Given the description of an element on the screen output the (x, y) to click on. 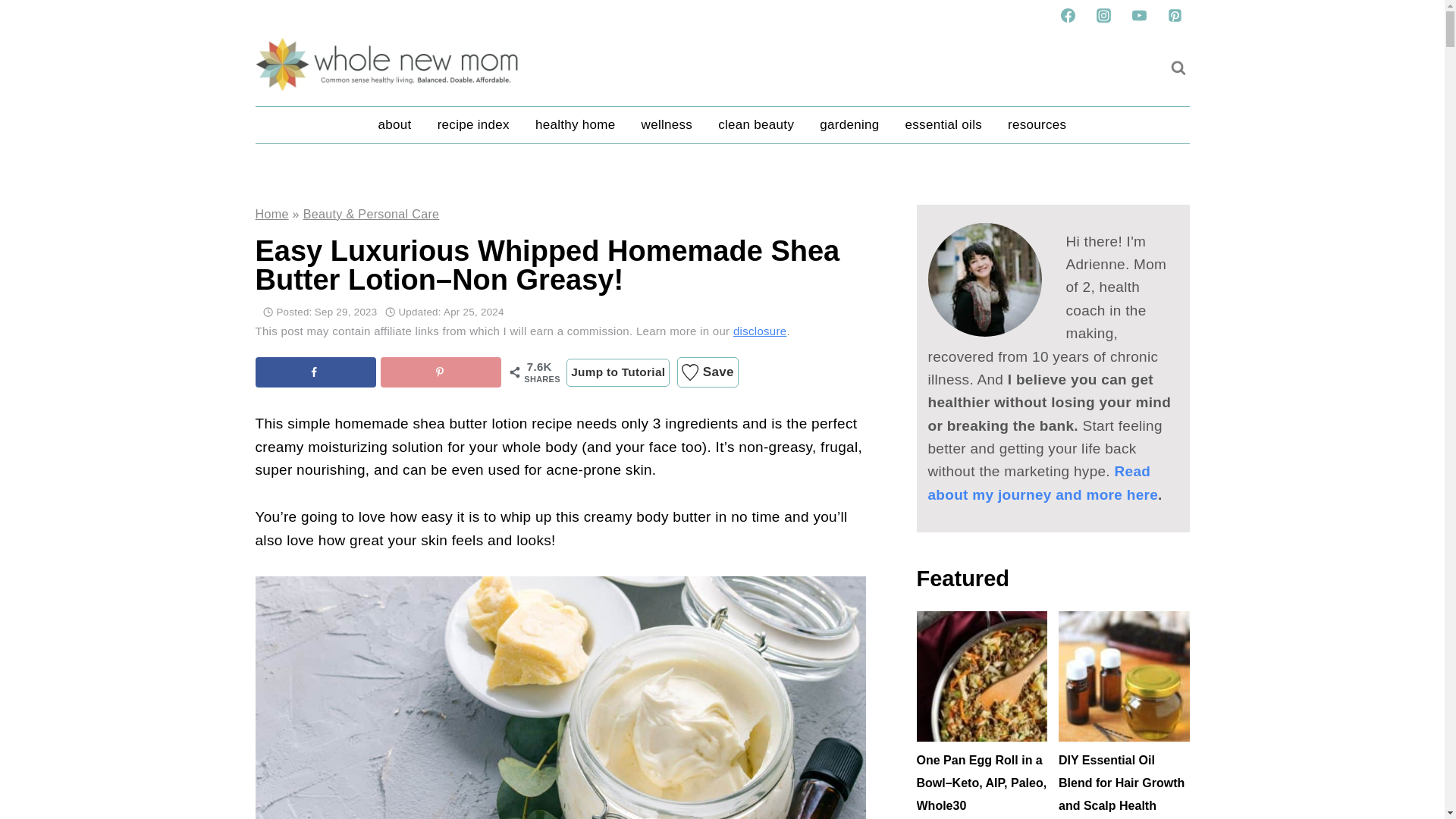
Share on Facebook (314, 372)
Home (271, 213)
resources (1036, 125)
clean beauty (755, 125)
essential oils (943, 125)
wellness (667, 125)
healthy home (575, 125)
gardening (848, 125)
Save to Pinterest (440, 372)
disclosure (760, 330)
Save (707, 371)
about (395, 125)
Jump to Tutorial (617, 372)
recipe index (473, 125)
